Given the description of an element on the screen output the (x, y) to click on. 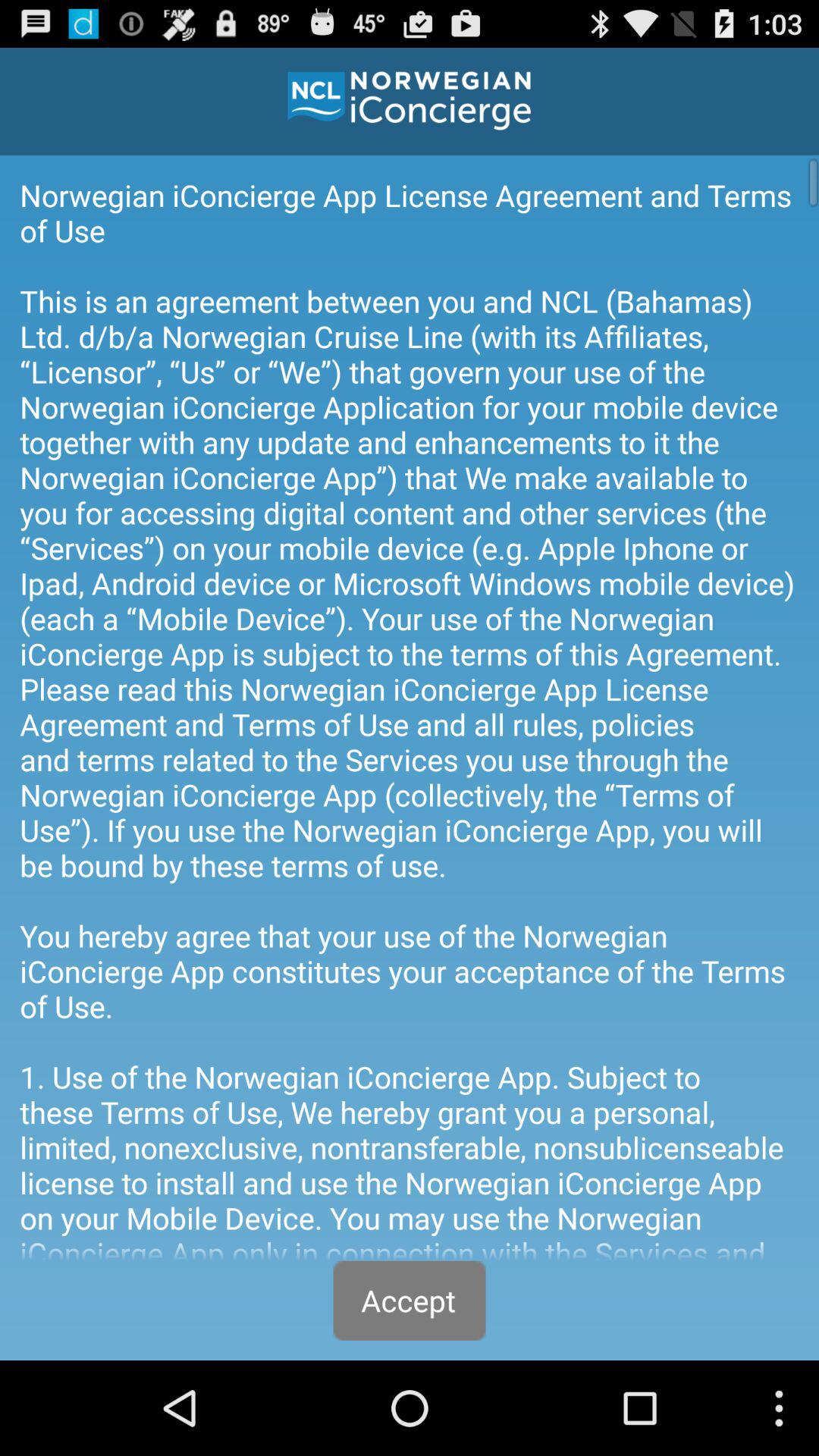
tap accept at the bottom (409, 1300)
